Given the description of an element on the screen output the (x, y) to click on. 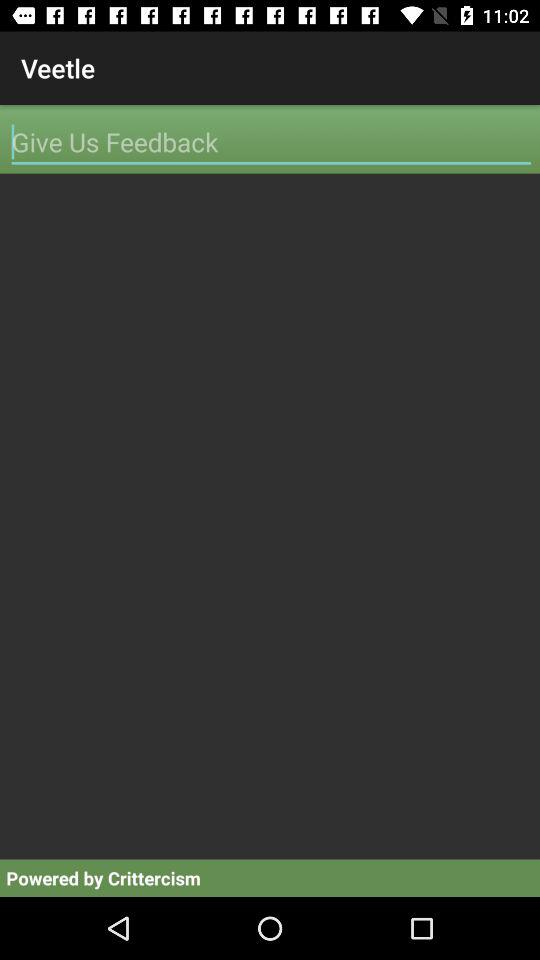
enter feedback text (271, 142)
